Given the description of an element on the screen output the (x, y) to click on. 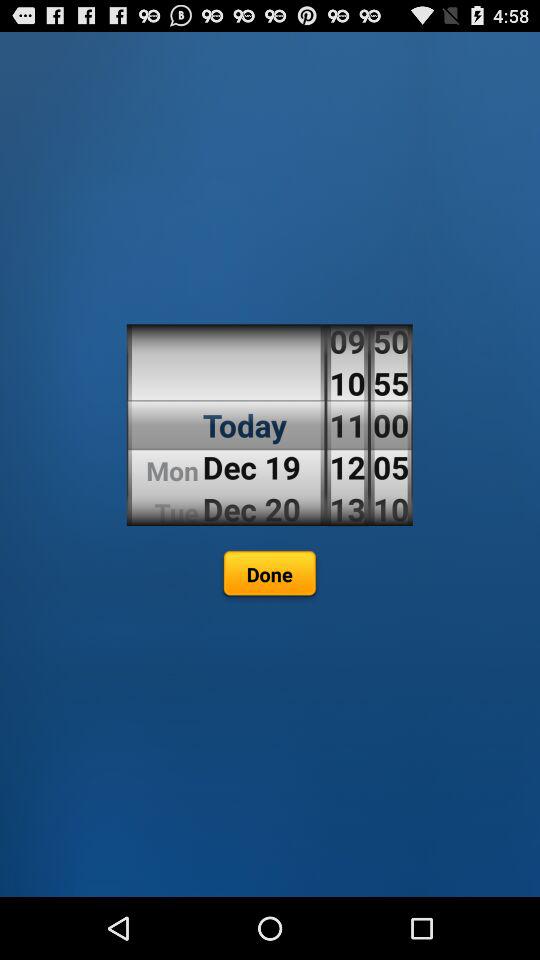
swipe until the done icon (269, 576)
